Given the description of an element on the screen output the (x, y) to click on. 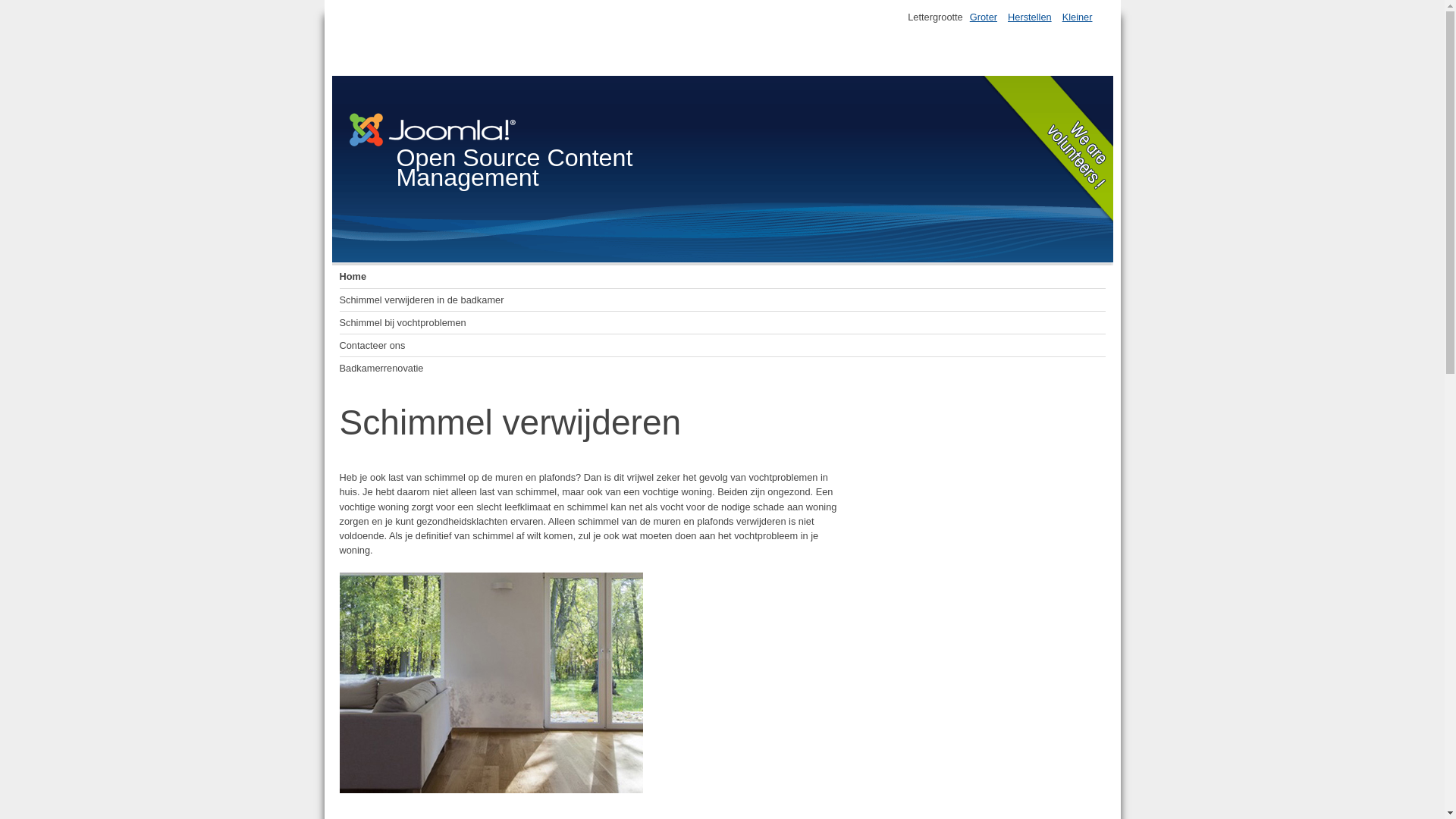
Herstellen Element type: text (1029, 16)
Badkamerrenovatie Element type: text (722, 368)
Kleiner Element type: text (1077, 16)
Schimmel verwijderen in de badkamer Element type: text (722, 299)
Contacteer ons Element type: text (722, 345)
Home Element type: text (722, 276)
Groter Element type: text (983, 16)
Schimmel bij vochtproblemen Element type: text (722, 322)
